Given the description of an element on the screen output the (x, y) to click on. 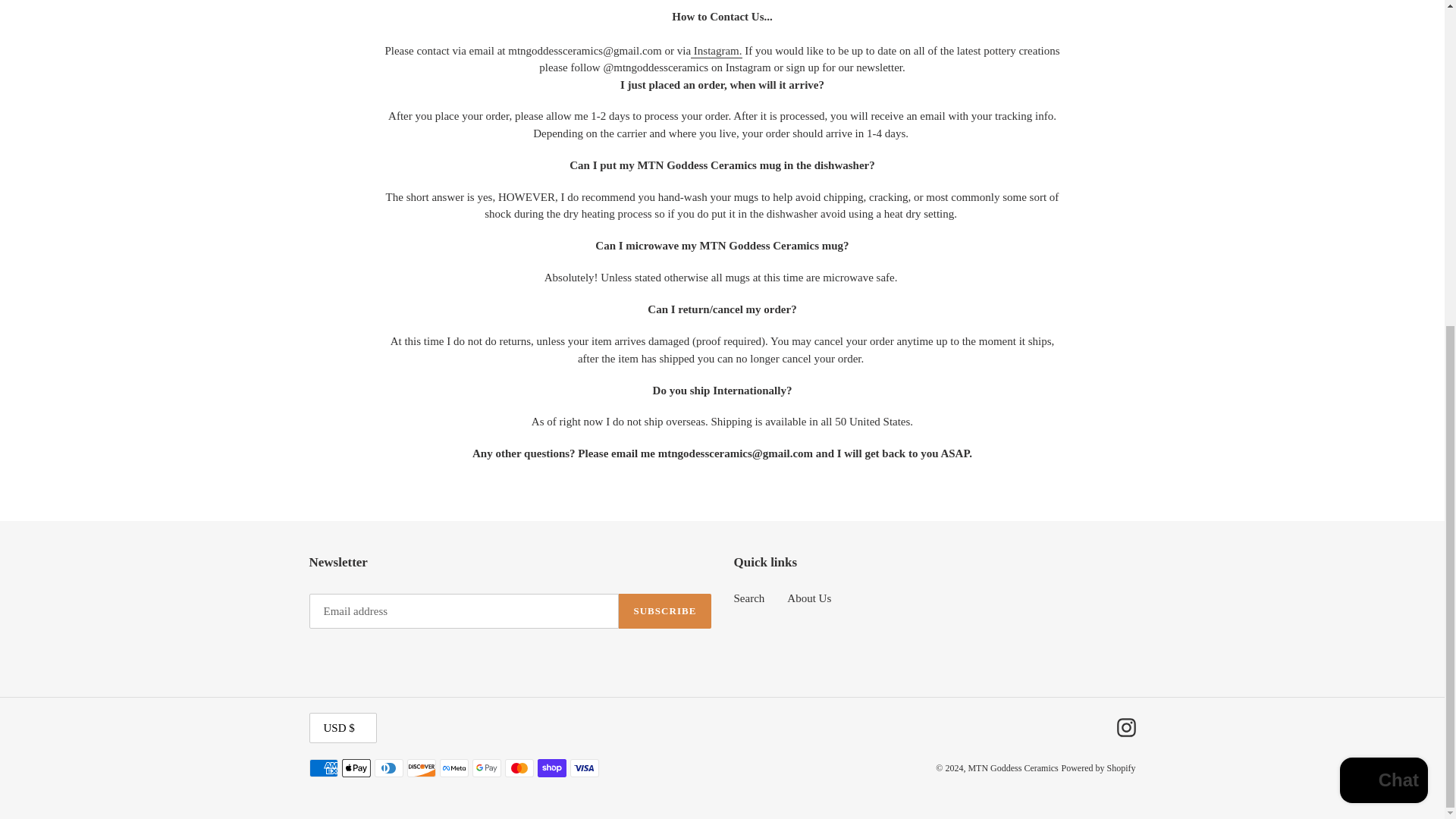
About Us (809, 598)
SUBSCRIBE (664, 610)
Shopify online store chat (1383, 246)
Search (749, 598)
Instagram. (715, 51)
